Given the description of an element on the screen output the (x, y) to click on. 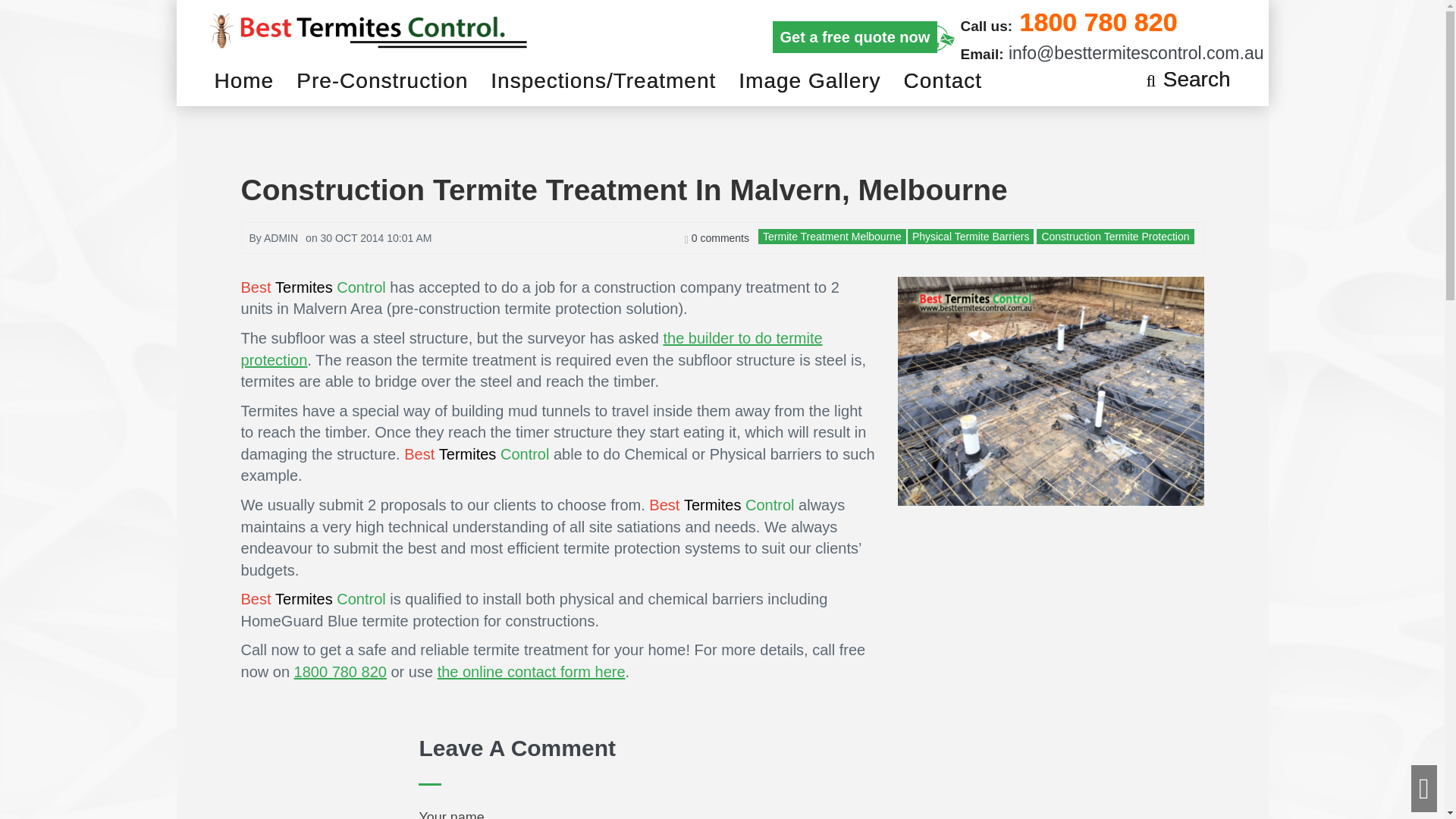
Contact (943, 79)
Termite Treatment Melbourne (831, 236)
1800 780 820 (340, 671)
the online contact form here (532, 671)
Pre-Construction (382, 79)
Construction Termite Treatment for Builders (531, 349)
Home (249, 79)
Physical Termite Barriers (970, 236)
0 comments (716, 237)
the builder to do termite protection (531, 349)
Get a free quote now (854, 37)
Image Gallery (808, 79)
Contact us for Termites Control Information in Melbourne (532, 671)
